Given the description of an element on the screen output the (x, y) to click on. 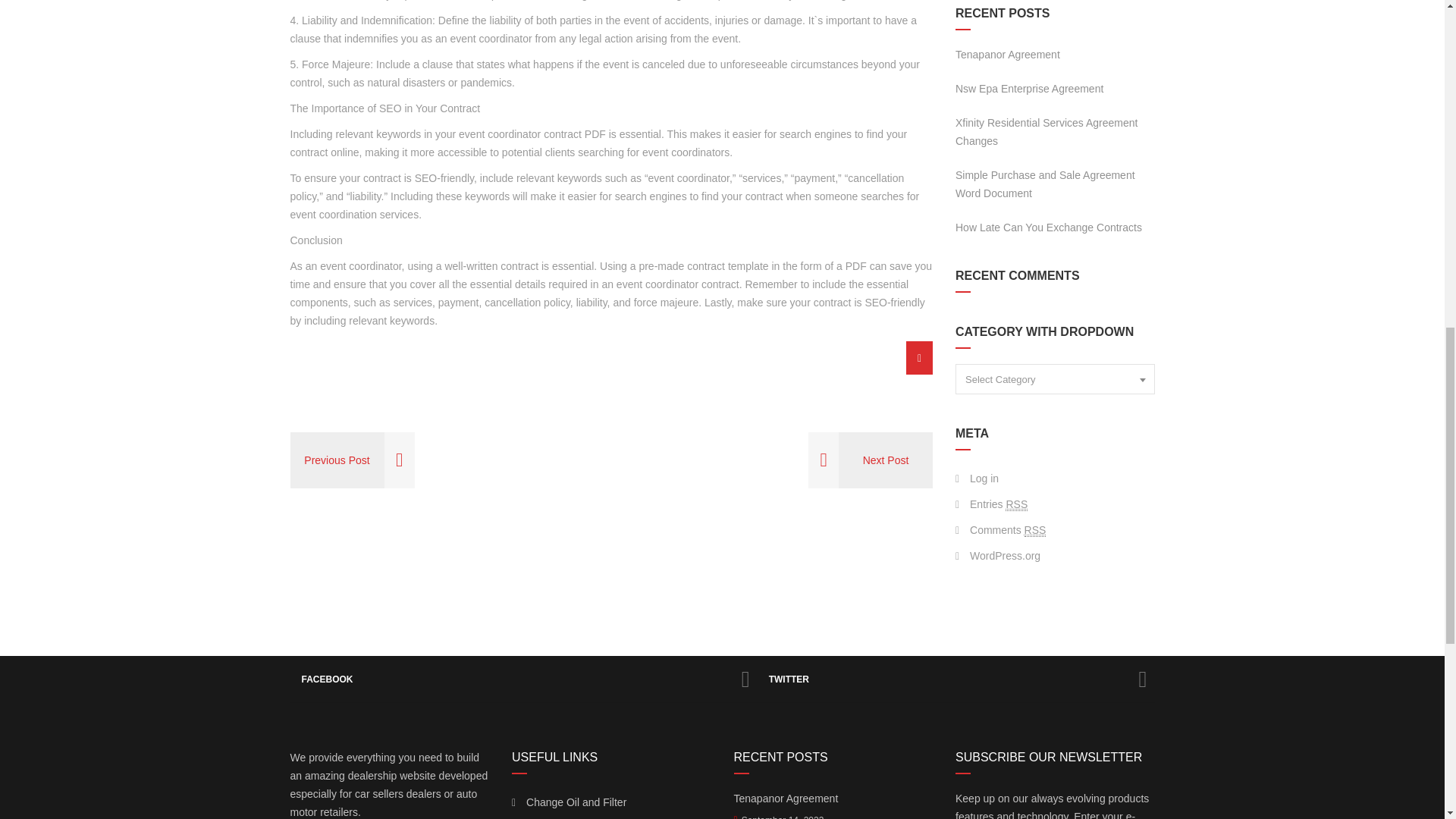
Simple Purchase and Sale Agreement Word Document (1054, 184)
Xfinity Residential Services Agreement Changes (1054, 131)
Really Simple Syndication (1035, 530)
Previous Post (351, 460)
TWITTER (955, 678)
Select Category (1055, 378)
Tenapanor Agreement (1007, 54)
Nsw Epa Enterprise Agreement (1029, 88)
Comments RSS (1007, 529)
